Given the description of an element on the screen output the (x, y) to click on. 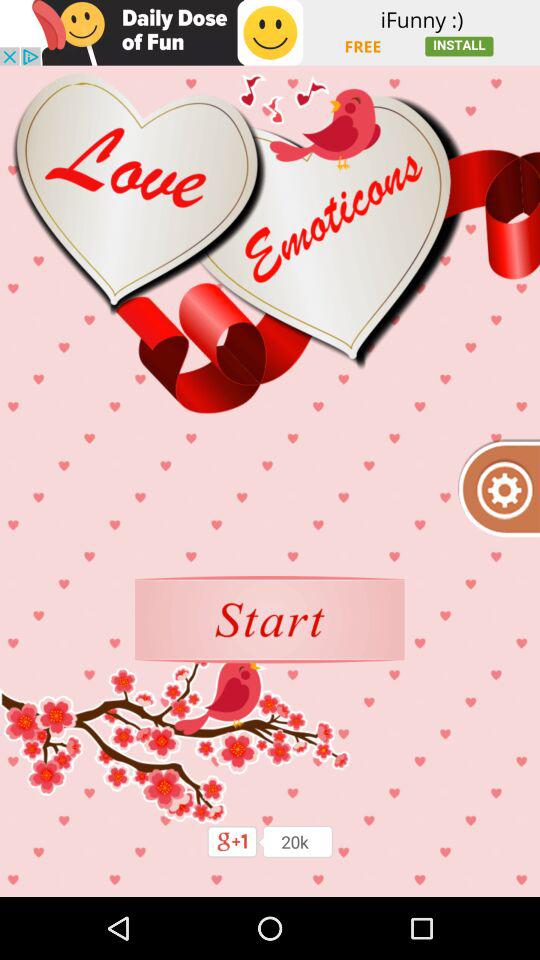
open settings (498, 487)
